Given the description of an element on the screen output the (x, y) to click on. 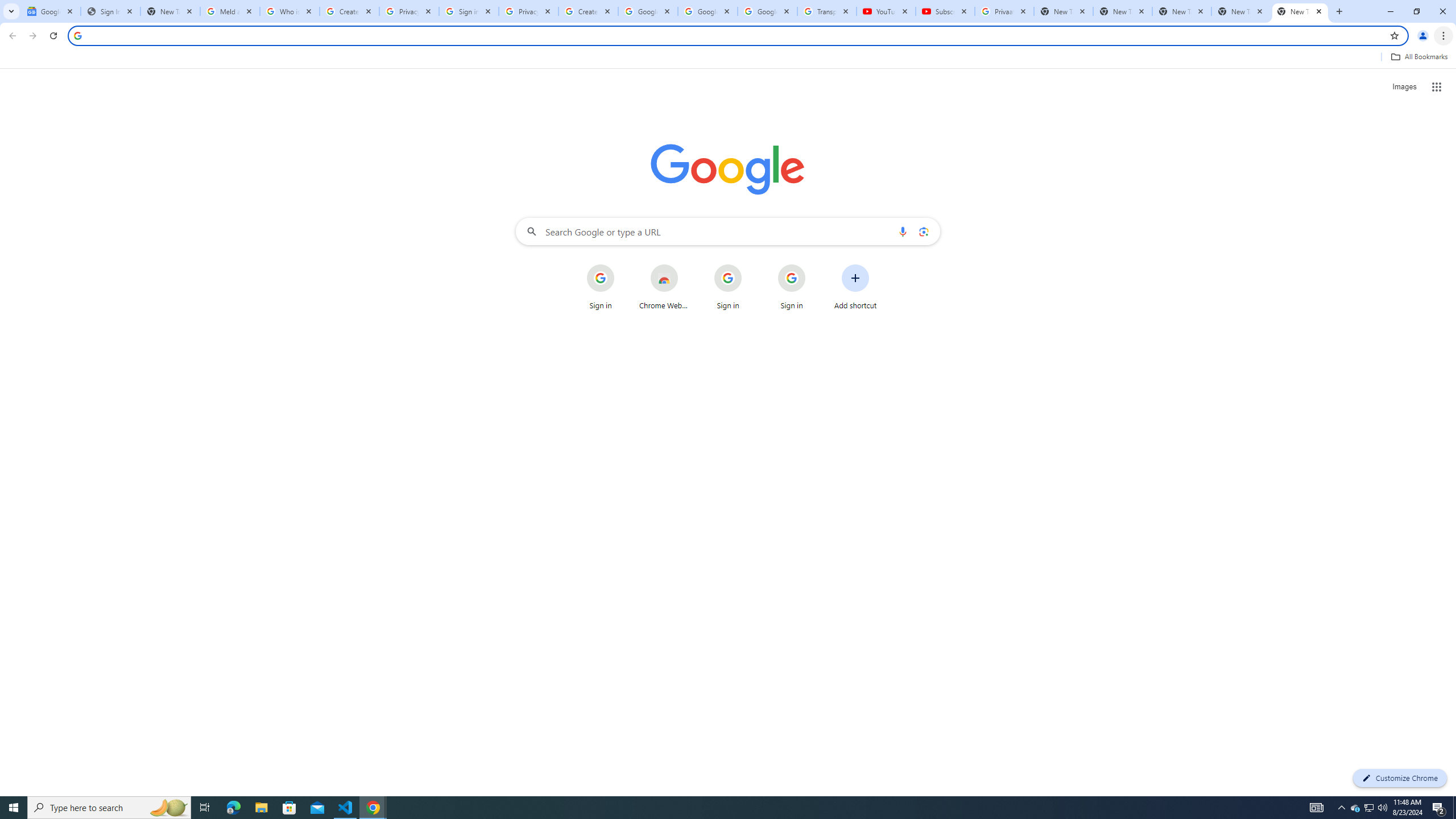
New Tab (1182, 11)
Chrome Web Store (663, 287)
More actions for Chrome Web Store shortcut (686, 265)
